Given the description of an element on the screen output the (x, y) to click on. 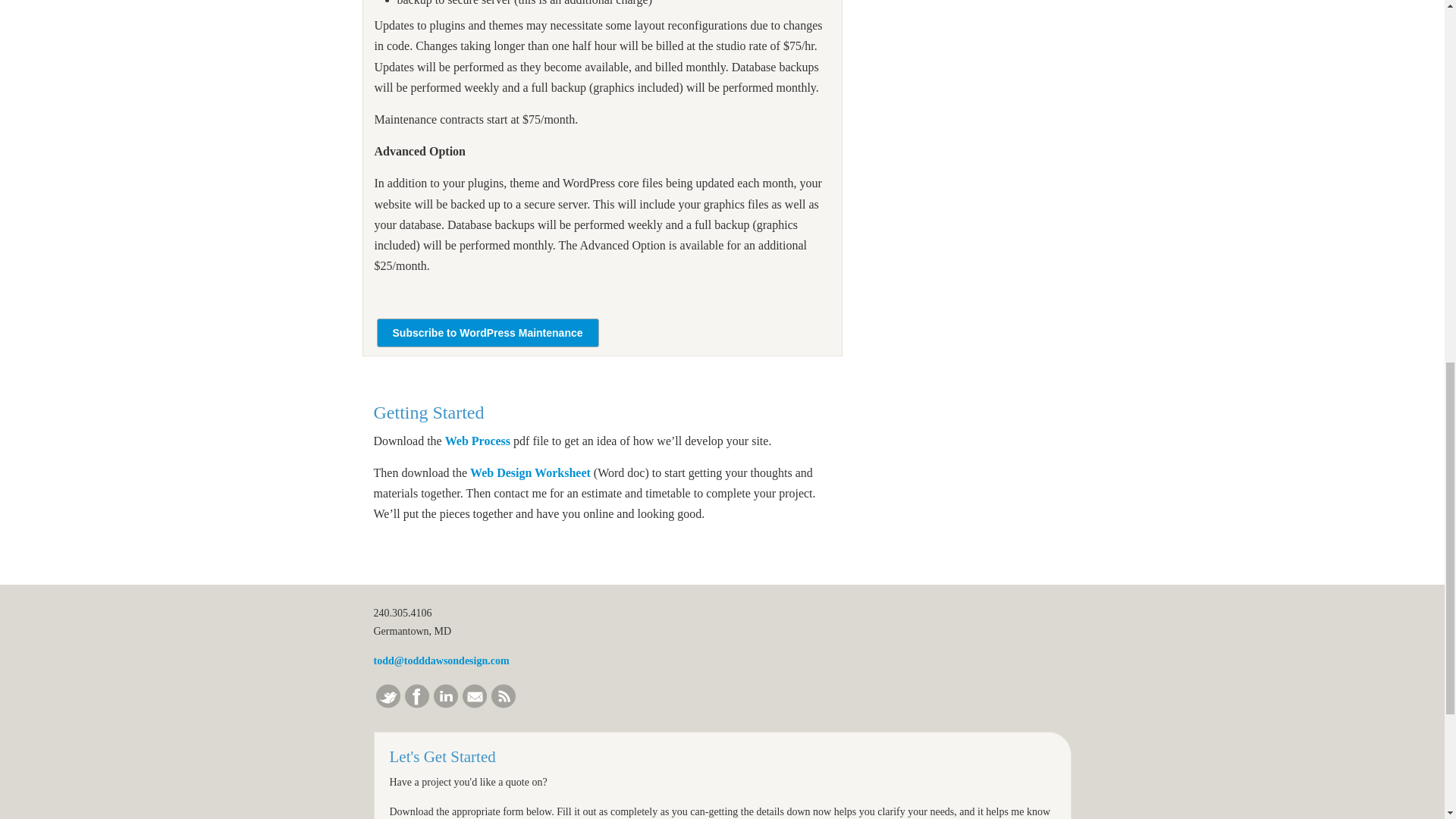
Web Design Worksheet (530, 472)
RSS (503, 703)
Subscribe to WordPress Maintenance (486, 333)
Twitter (387, 703)
WP Maintenance (486, 333)
Web Process (478, 440)
LinkedIn (445, 703)
E-mail (474, 703)
Facebook (416, 703)
